Given the description of an element on the screen output the (x, y) to click on. 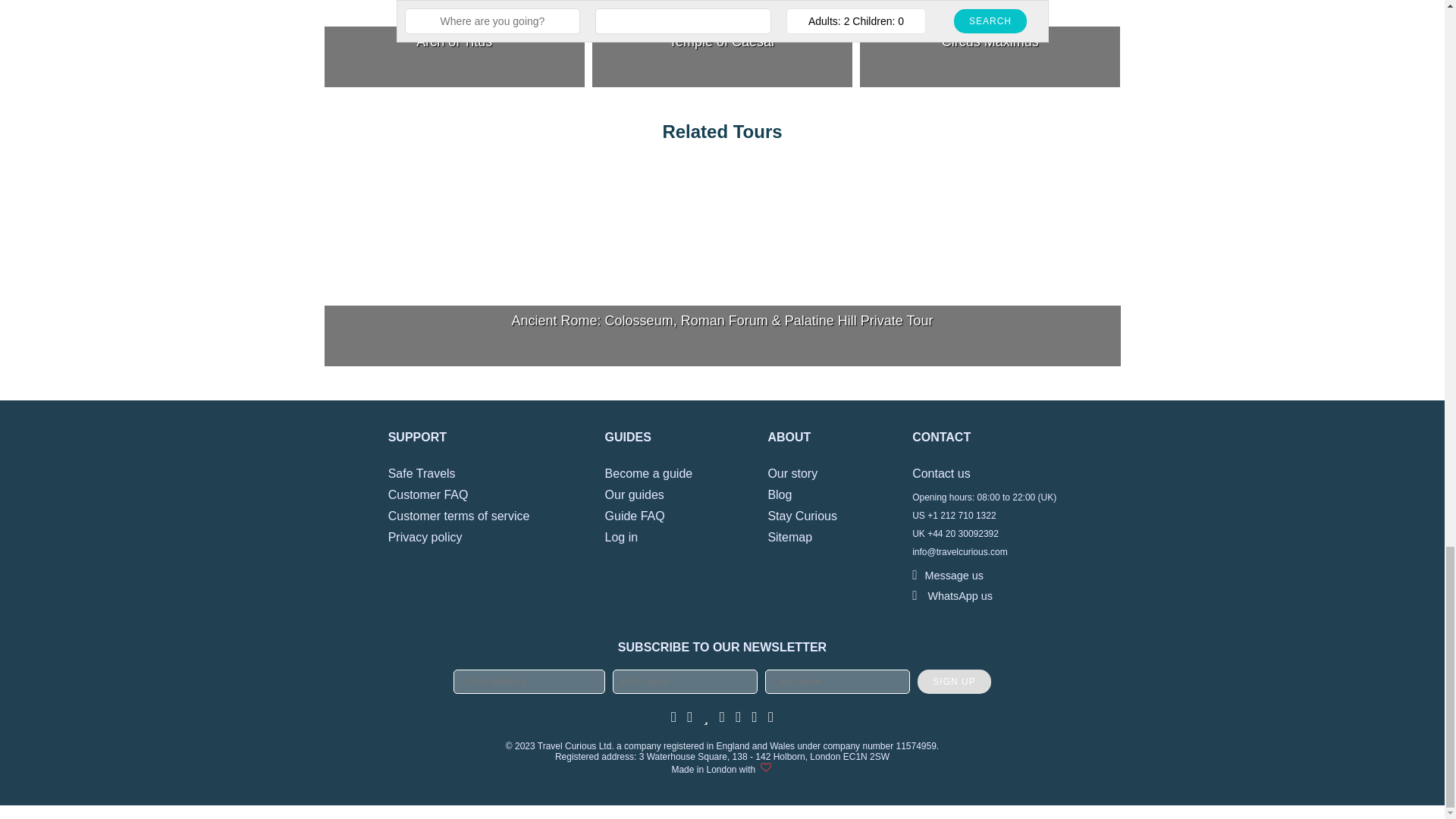
Circus Maximus (989, 43)
Become a guide (649, 472)
Arch of Titus (454, 43)
Temple of Caesar (721, 43)
Safe Travels (421, 472)
Customer FAQ (428, 494)
Privacy policy (425, 536)
Customer terms of service (458, 515)
